Given the description of an element on the screen output the (x, y) to click on. 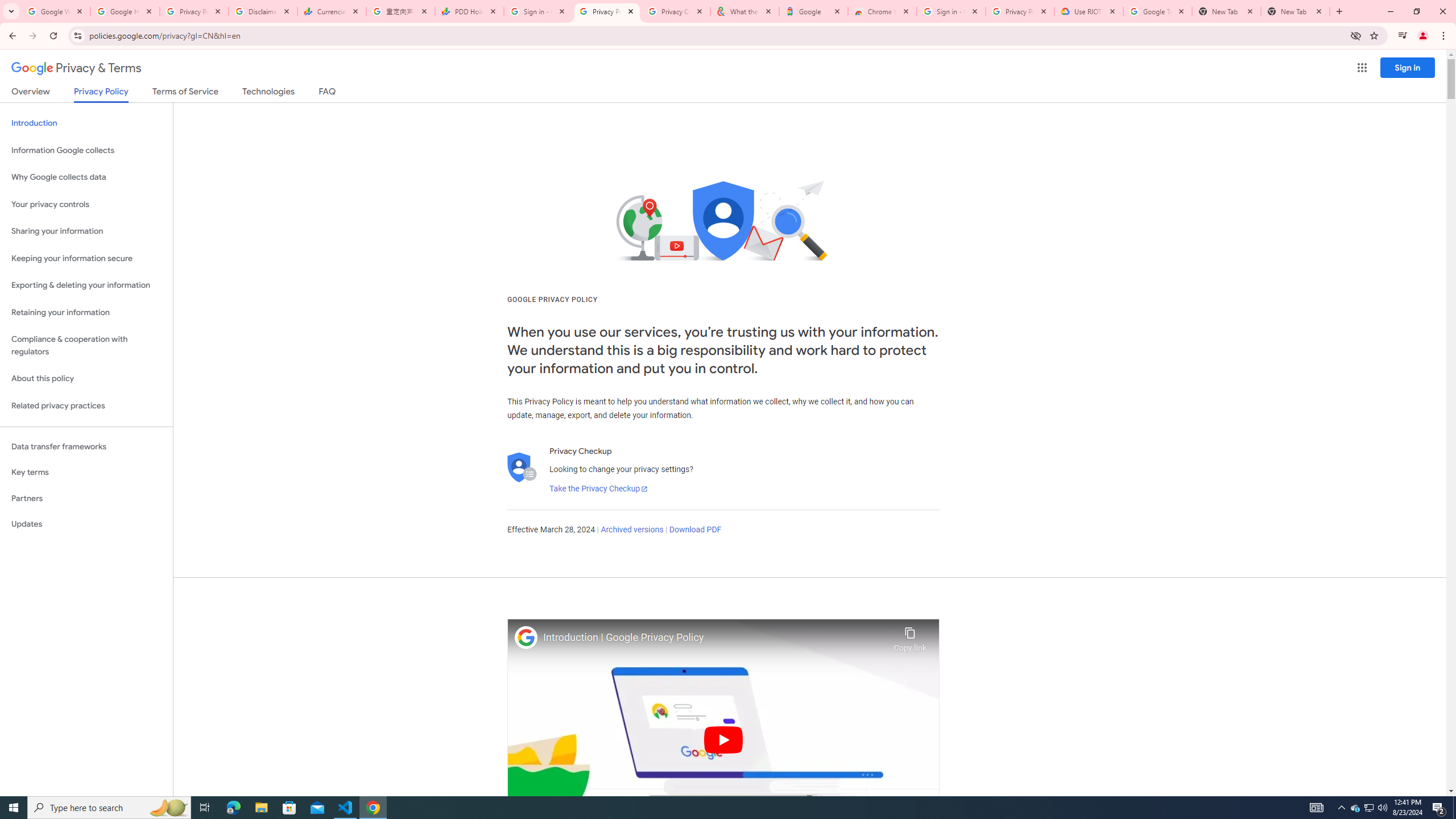
Sign in - Google Accounts (950, 11)
